Given the description of an element on the screen output the (x, y) to click on. 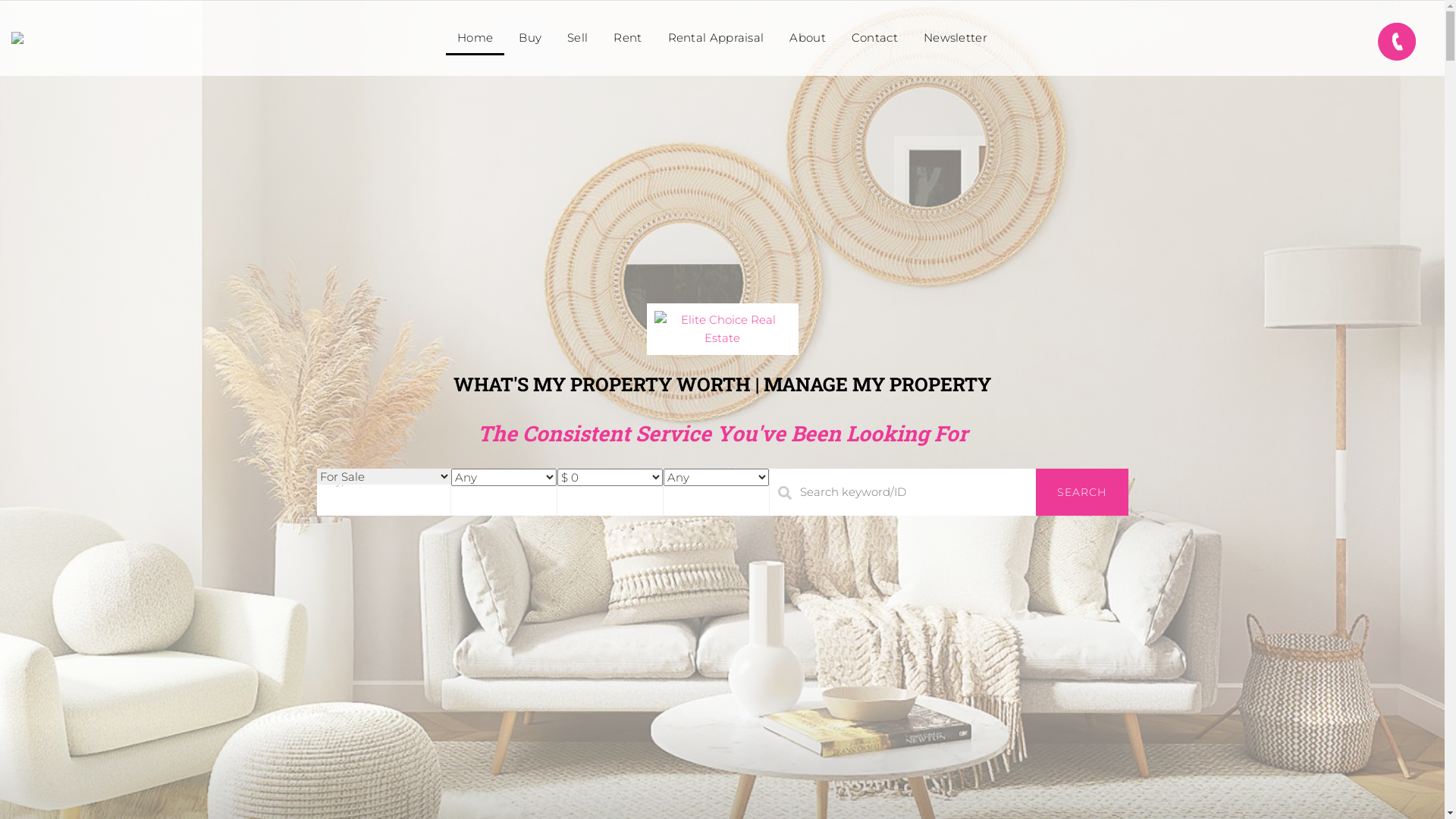
Rent Element type: text (627, 37)
MANAGE MY PROPERTY Element type: text (877, 383)
Newsletter Element type: text (955, 37)
SEARCH Element type: text (1081, 491)
Contact Element type: text (874, 37)
Rental Appraisal Element type: text (716, 37)
Buy Element type: text (529, 37)
Home Element type: text (474, 37)
WHAT'S MY PROPERTY WORTH Element type: text (601, 383)
Sell Element type: text (577, 37)
About Element type: text (807, 37)
